Given the description of an element on the screen output the (x, y) to click on. 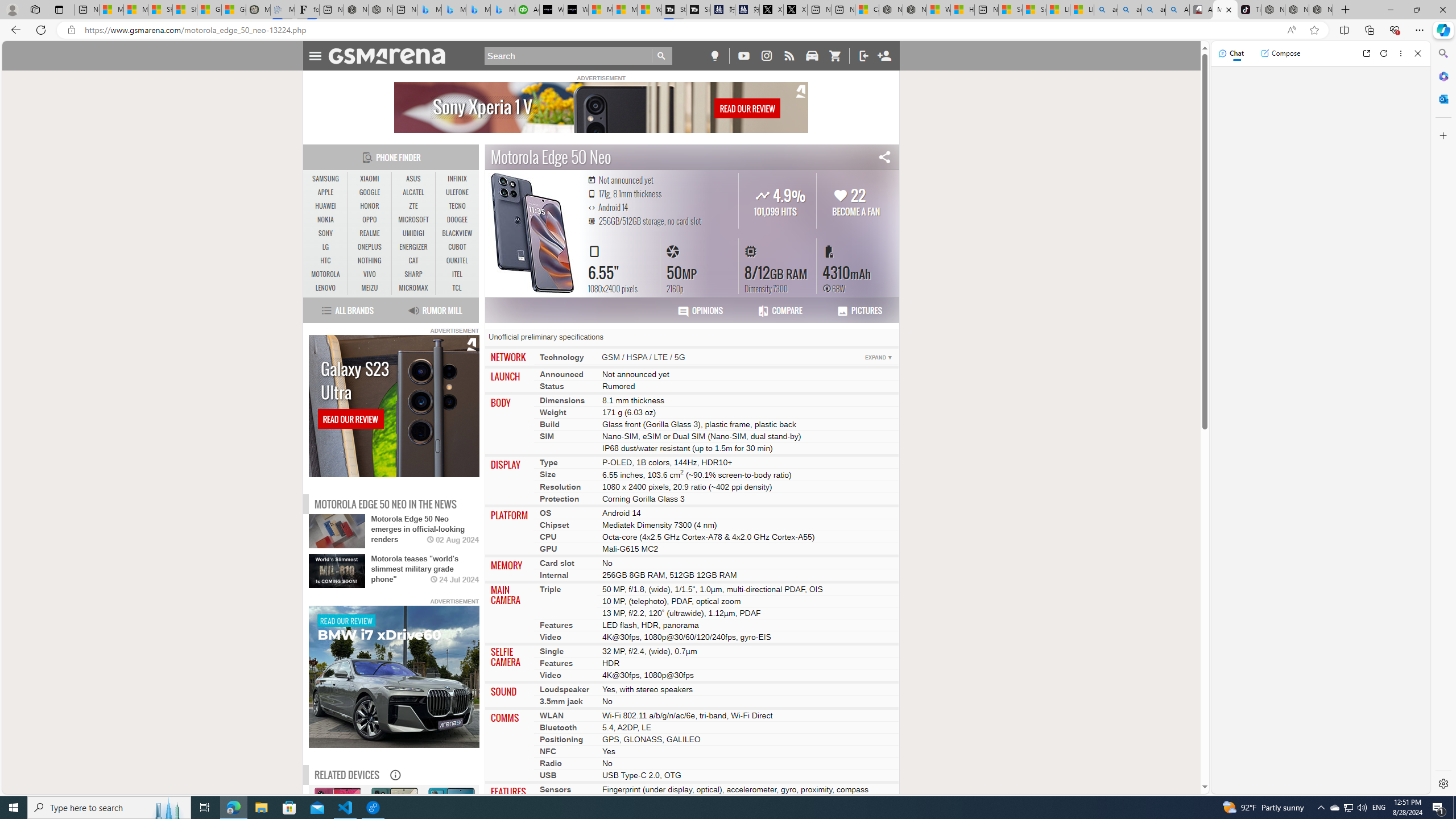
Toggle Navigation (314, 53)
To get missing image descriptions, open the context menu. (393, 677)
Weight (553, 411)
APPLE (325, 192)
